Given the description of an element on the screen output the (x, y) to click on. 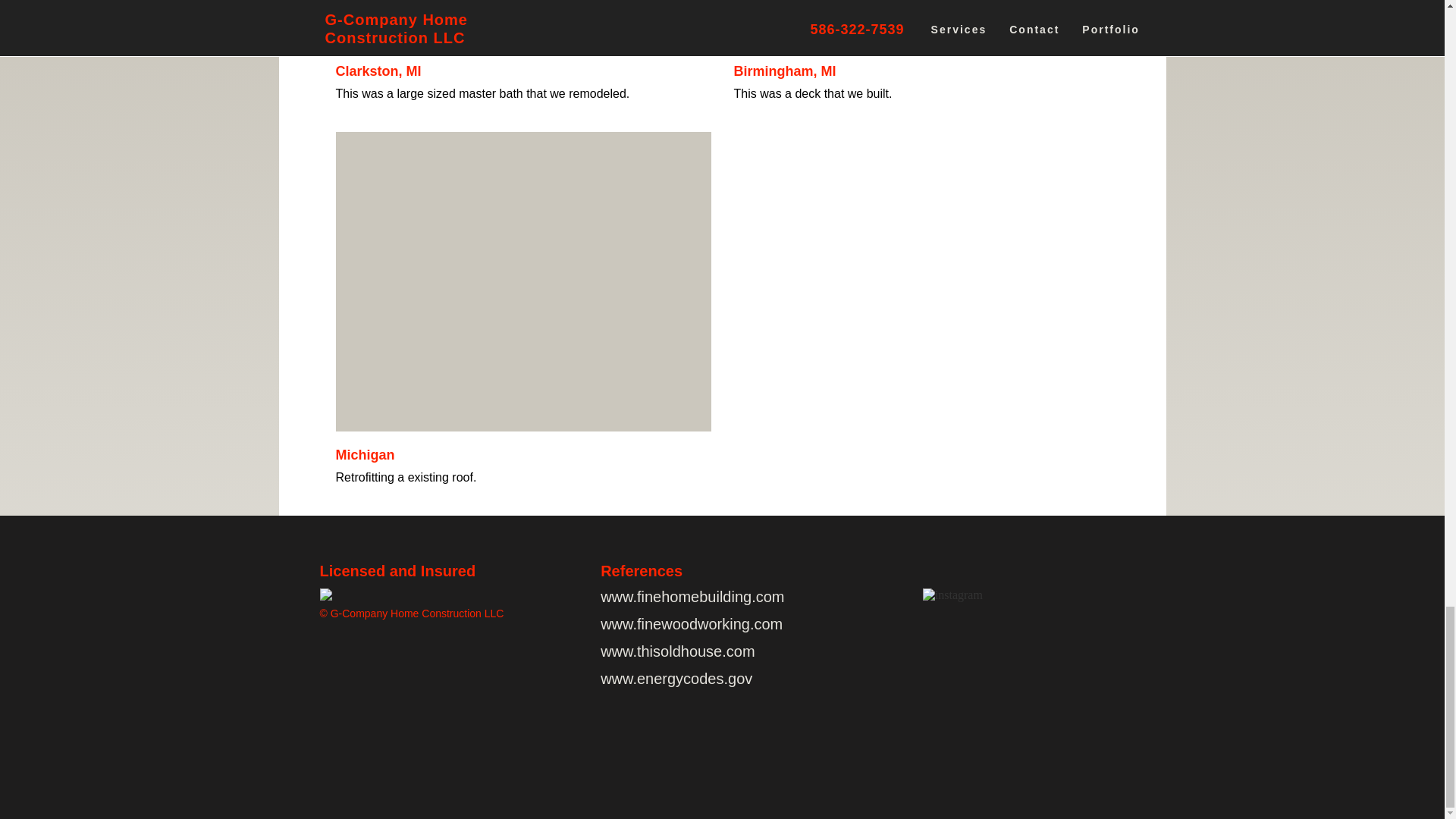
Michigan (364, 454)
Birmingham, MI (784, 70)
www.thisoldhouse.com (676, 651)
www.finehomebuilding.com (691, 596)
www.finewoodworking.com (691, 623)
Clarkston, MI (377, 70)
www.energycodes.gov (675, 678)
